Given the description of an element on the screen output the (x, y) to click on. 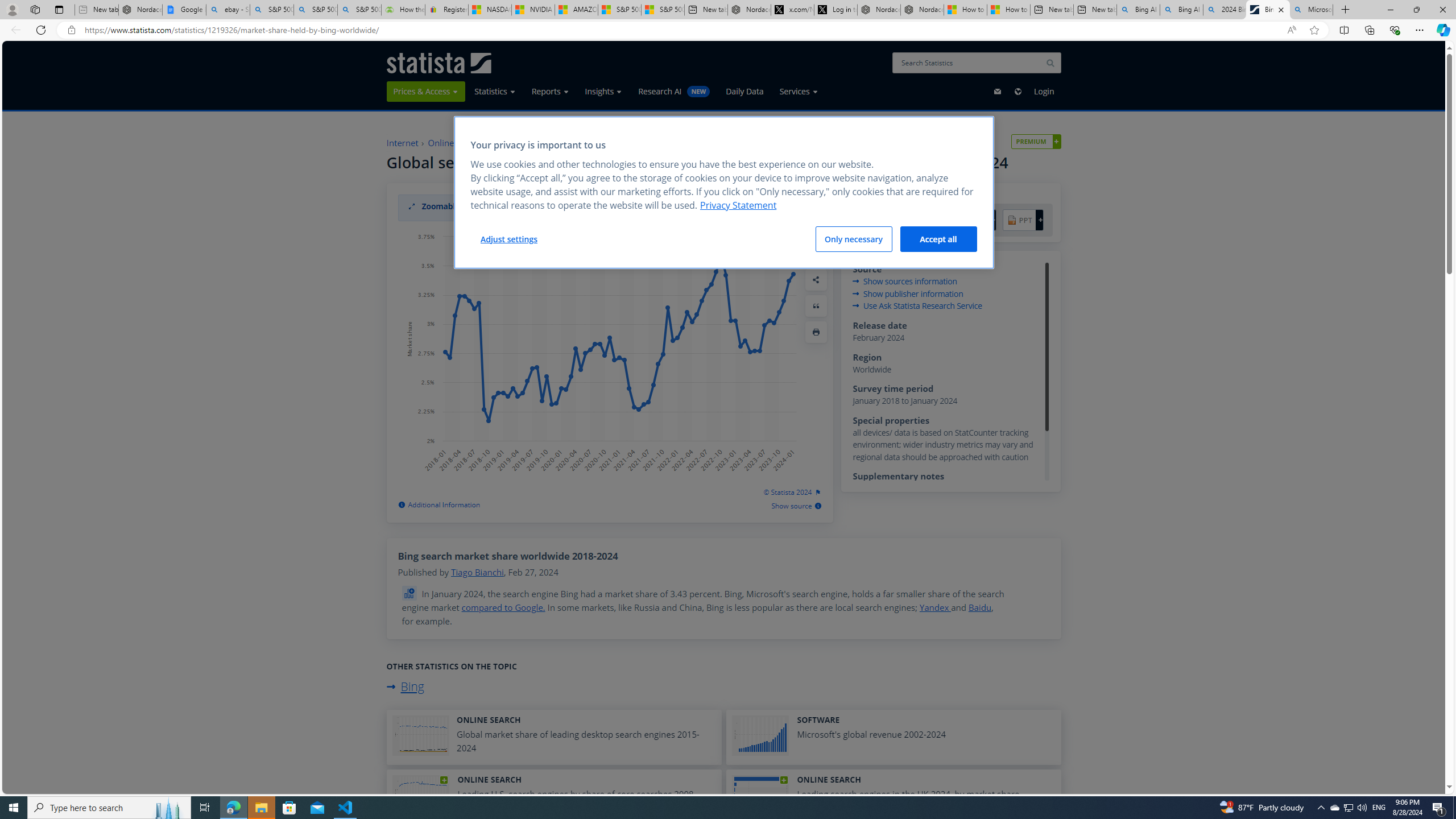
Adjust settings (508, 239)
